Given the description of an element on the screen output the (x, y) to click on. 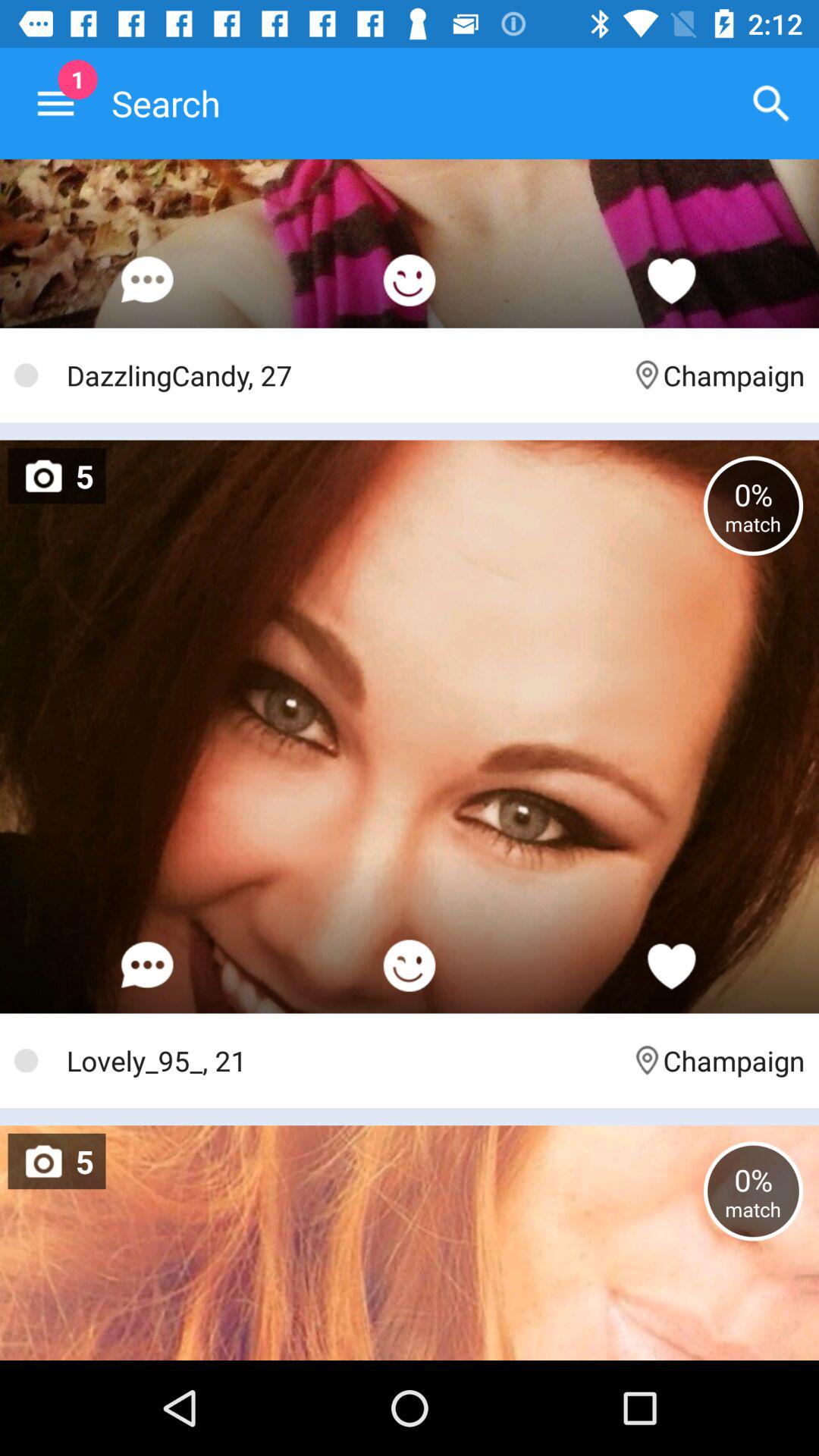
scroll until the dazzlingcandy, 27 (341, 375)
